Given the description of an element on the screen output the (x, y) to click on. 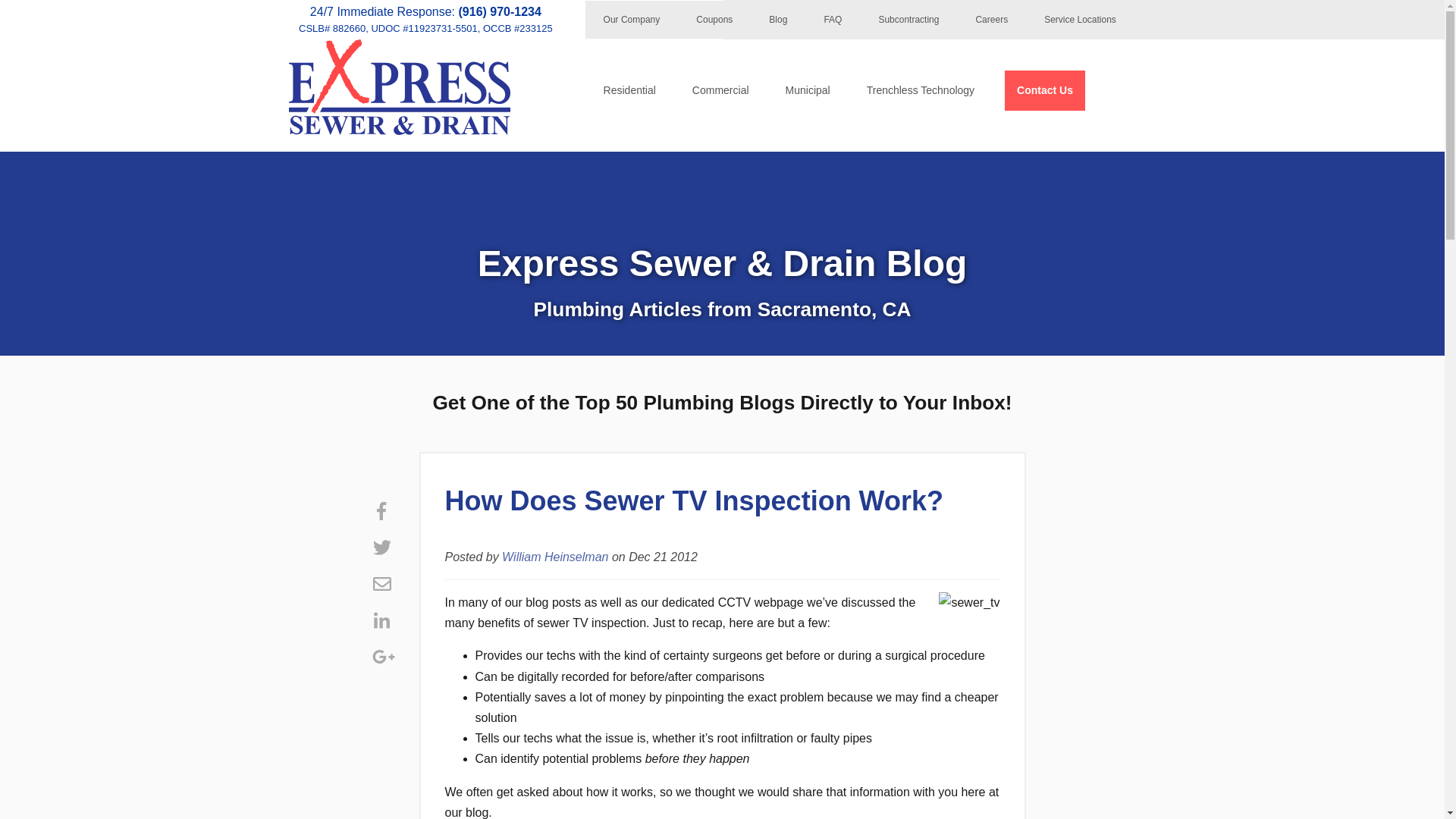
Express Sewer and Drain (398, 130)
Express Sewer and Drain (398, 87)
Trenchless Technology (920, 90)
Commercial (720, 90)
Share via LinkedIn (381, 619)
Careers (991, 19)
Service Locations (1080, 19)
Share via Email (381, 583)
Share via Twitter (381, 547)
Coupons (714, 19)
